Given the description of an element on the screen output the (x, y) to click on. 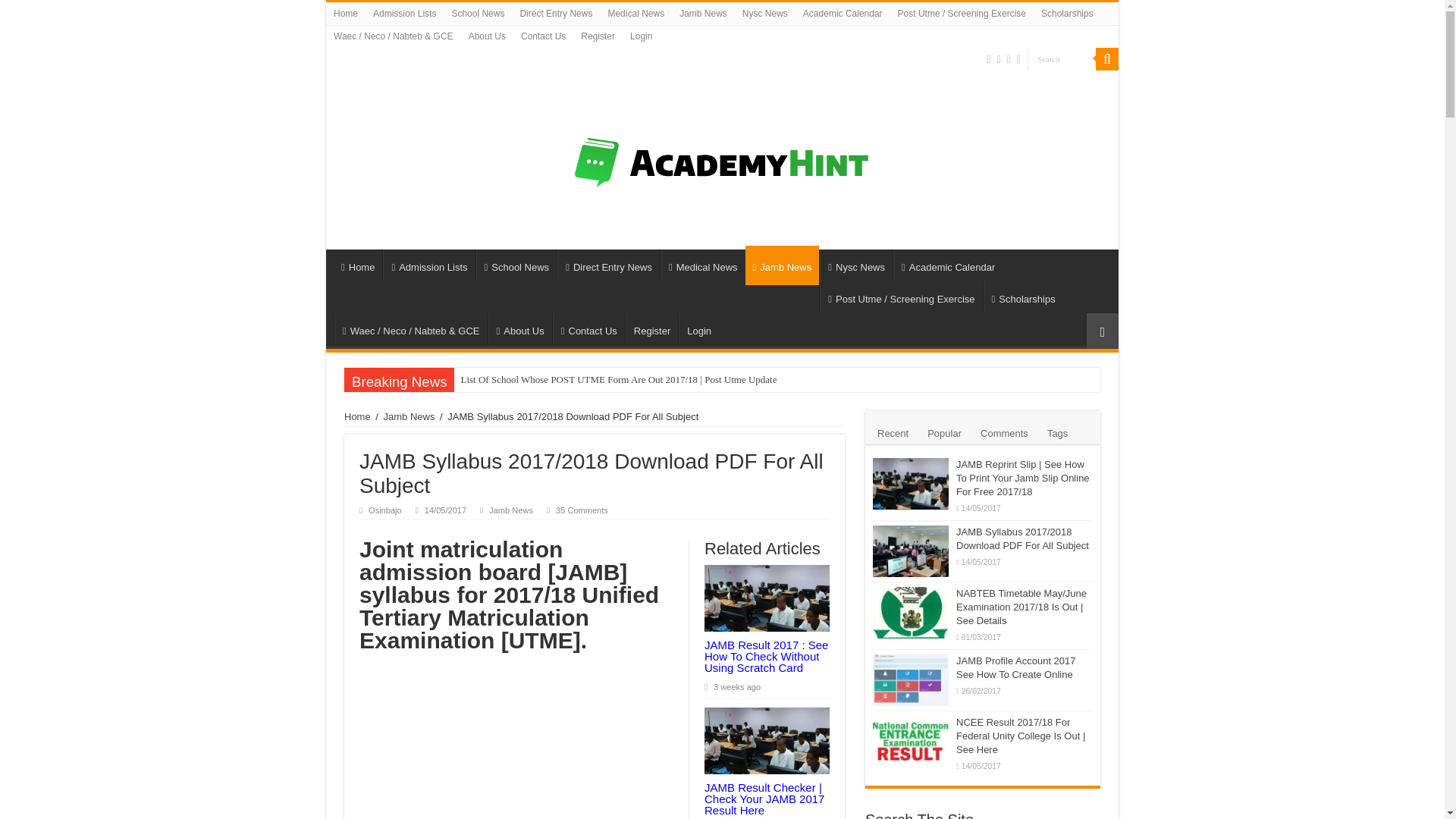
Search (1061, 58)
Nysc News (855, 265)
Home (357, 265)
Random Article (1102, 330)
Direct Entry News (555, 13)
Academic Calendar (841, 13)
Search (1061, 58)
Admission Lists (404, 13)
Medical News (703, 265)
Nysc News (764, 13)
School News (516, 265)
Contact Us (588, 328)
Home (345, 13)
Academic Calendar (948, 265)
Contact Us (543, 36)
